Given the description of an element on the screen output the (x, y) to click on. 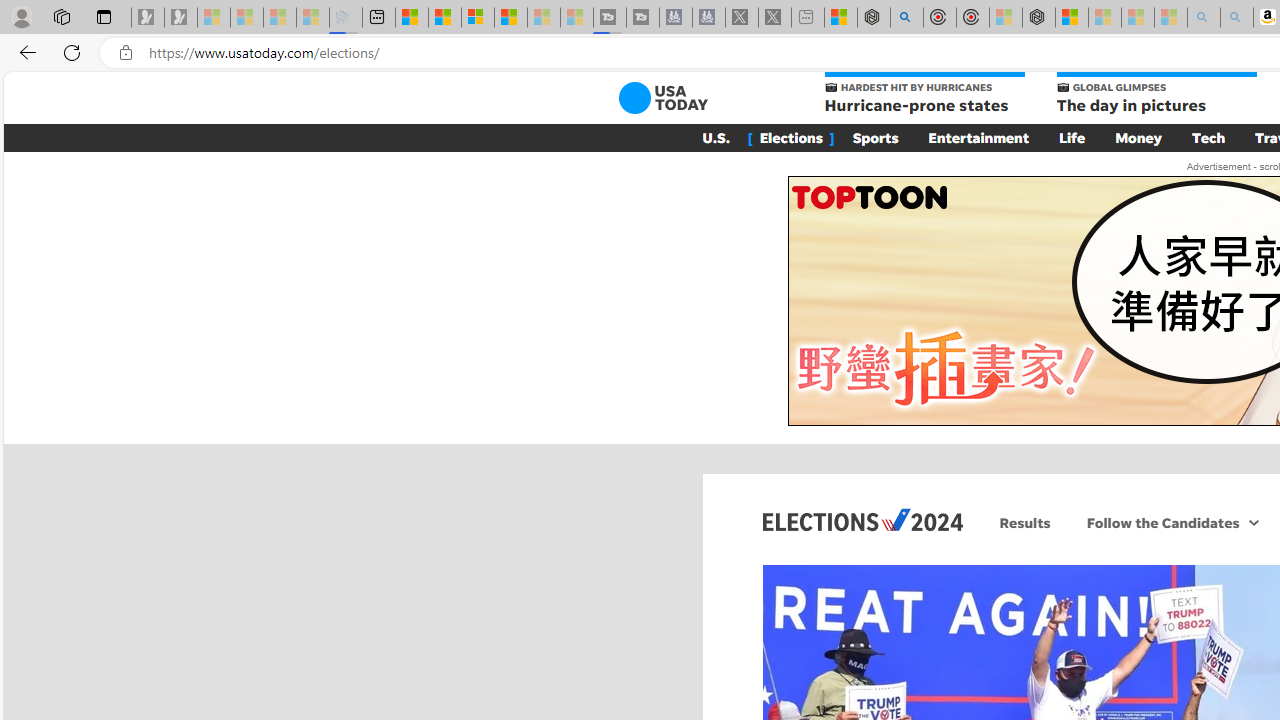
[ Elections ] (790, 137)
USA TODAY (662, 97)
X - Sleeping (775, 17)
Money (1138, 137)
Elections 2024 (861, 519)
Class: gnt_sn_a_svg gnt_sn_a__db_svg (1253, 522)
Nordace - Nordace Siena Is Not An Ordinary Backpack (1038, 17)
